Given the description of an element on the screen output the (x, y) to click on. 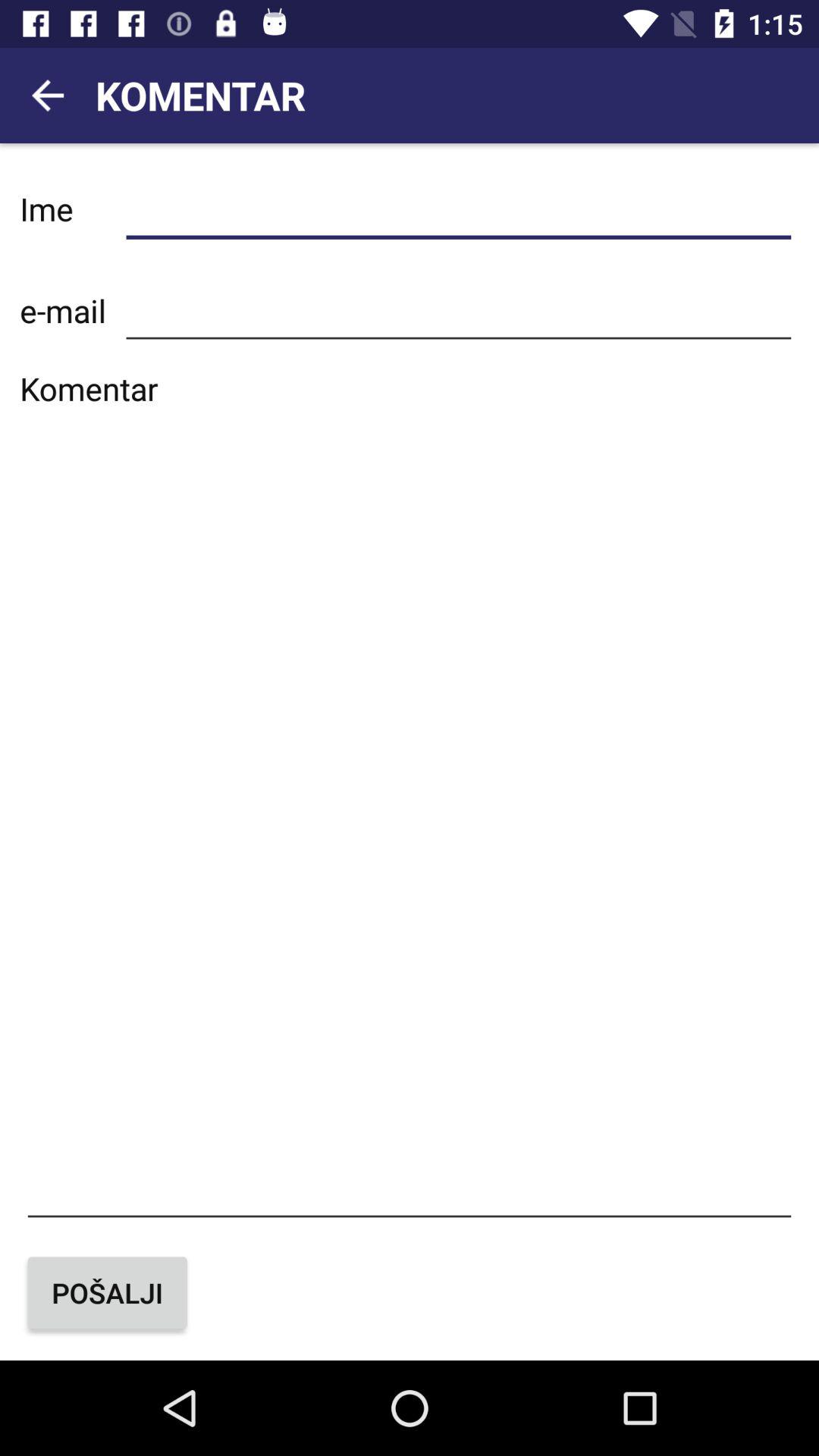
press the button at the bottom left corner (107, 1292)
